Given the description of an element on the screen output the (x, y) to click on. 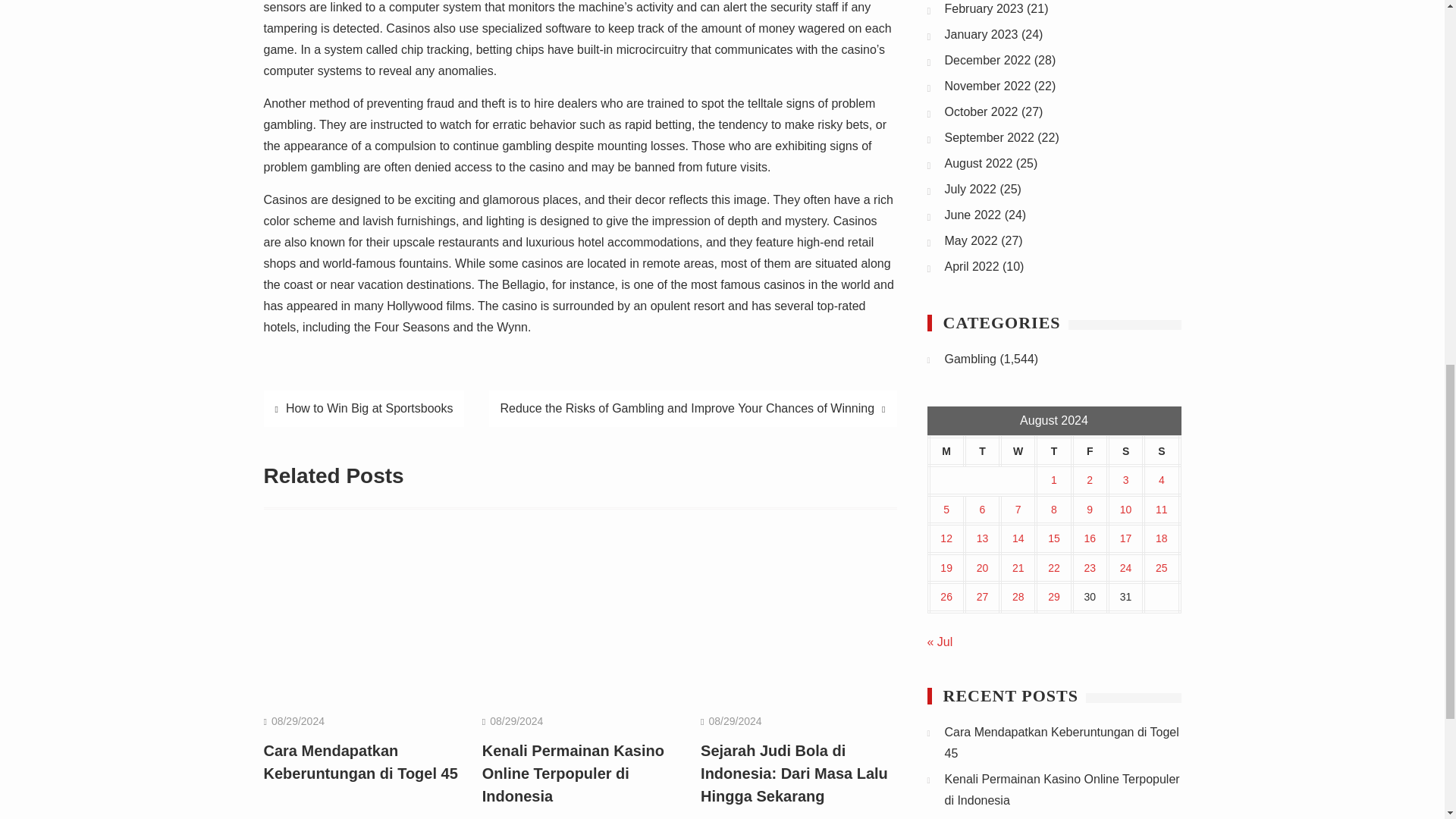
Friday (1089, 451)
Wednesday (1017, 451)
Saturday (1125, 451)
Monday (945, 451)
Tuesday (981, 451)
Kenali Permainan Kasino Online Terpopuler di Indonesia (572, 773)
Sunday (1160, 451)
How to Win Big at Sportsbooks (363, 408)
Thursday (1053, 451)
